Given the description of an element on the screen output the (x, y) to click on. 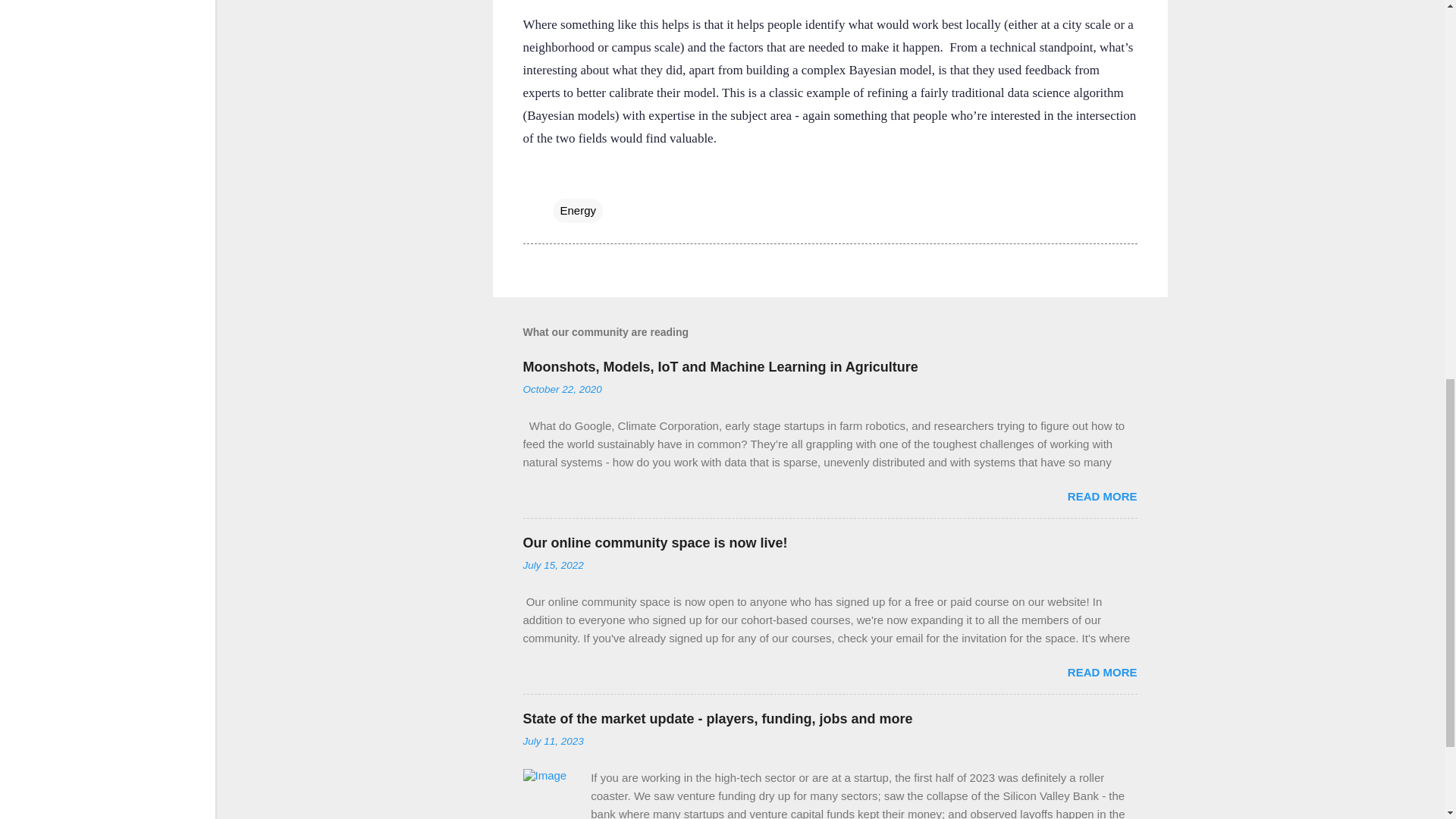
July 11, 2023 (552, 740)
READ MORE (1102, 495)
permanent link (562, 389)
Our online community space is now live! (654, 542)
October 22, 2020 (562, 389)
READ MORE (1102, 671)
Energy (578, 210)
Moonshots, Models, IoT and Machine Learning in Agriculture (720, 366)
July 15, 2022 (552, 564)
State of the market update - players, funding, jobs and more (717, 718)
